Given the description of an element on the screen output the (x, y) to click on. 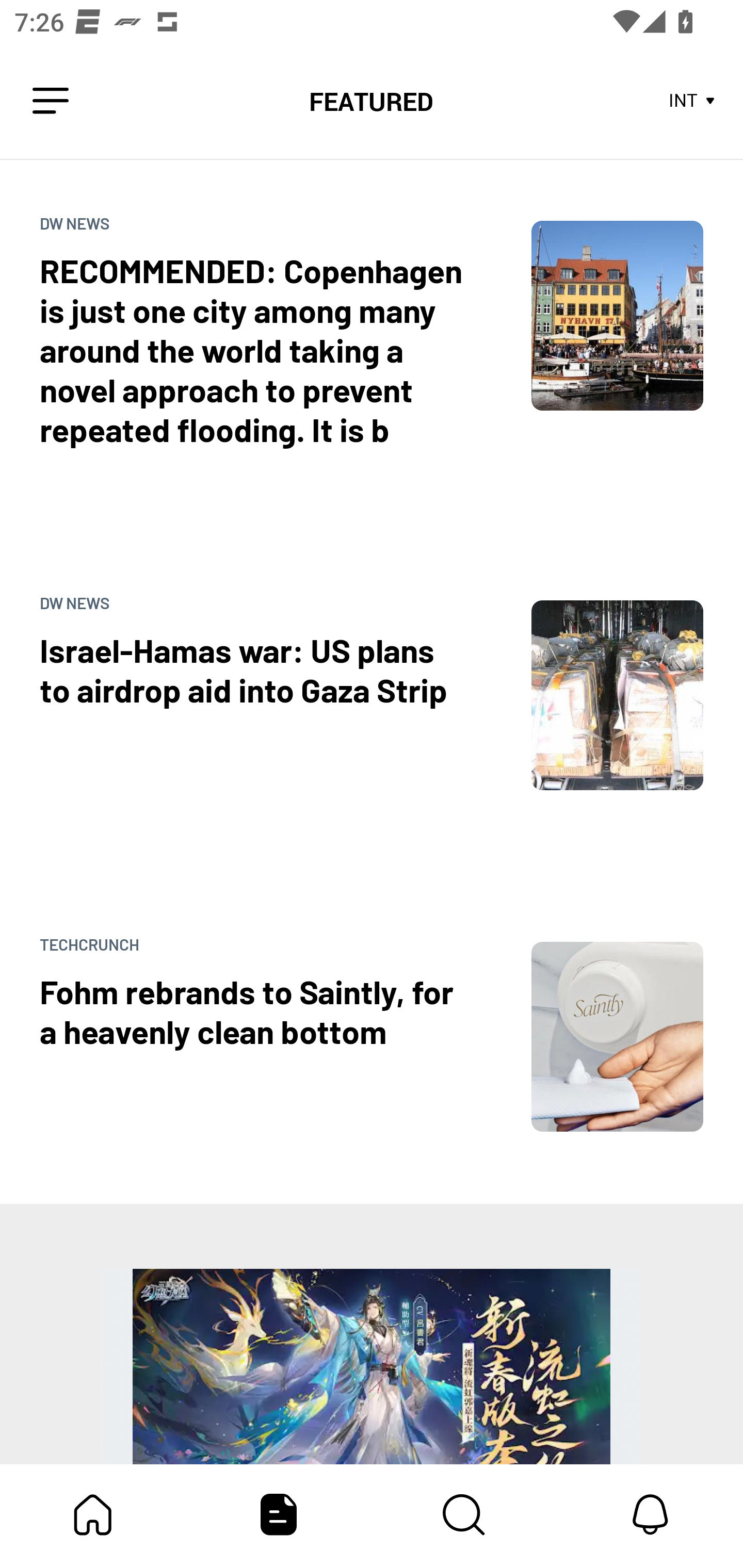
Leading Icon (50, 101)
INT Store Area (692, 101)
My Bundle (92, 1514)
Content Store (464, 1514)
Notifications (650, 1514)
